Given the description of an element on the screen output the (x, y) to click on. 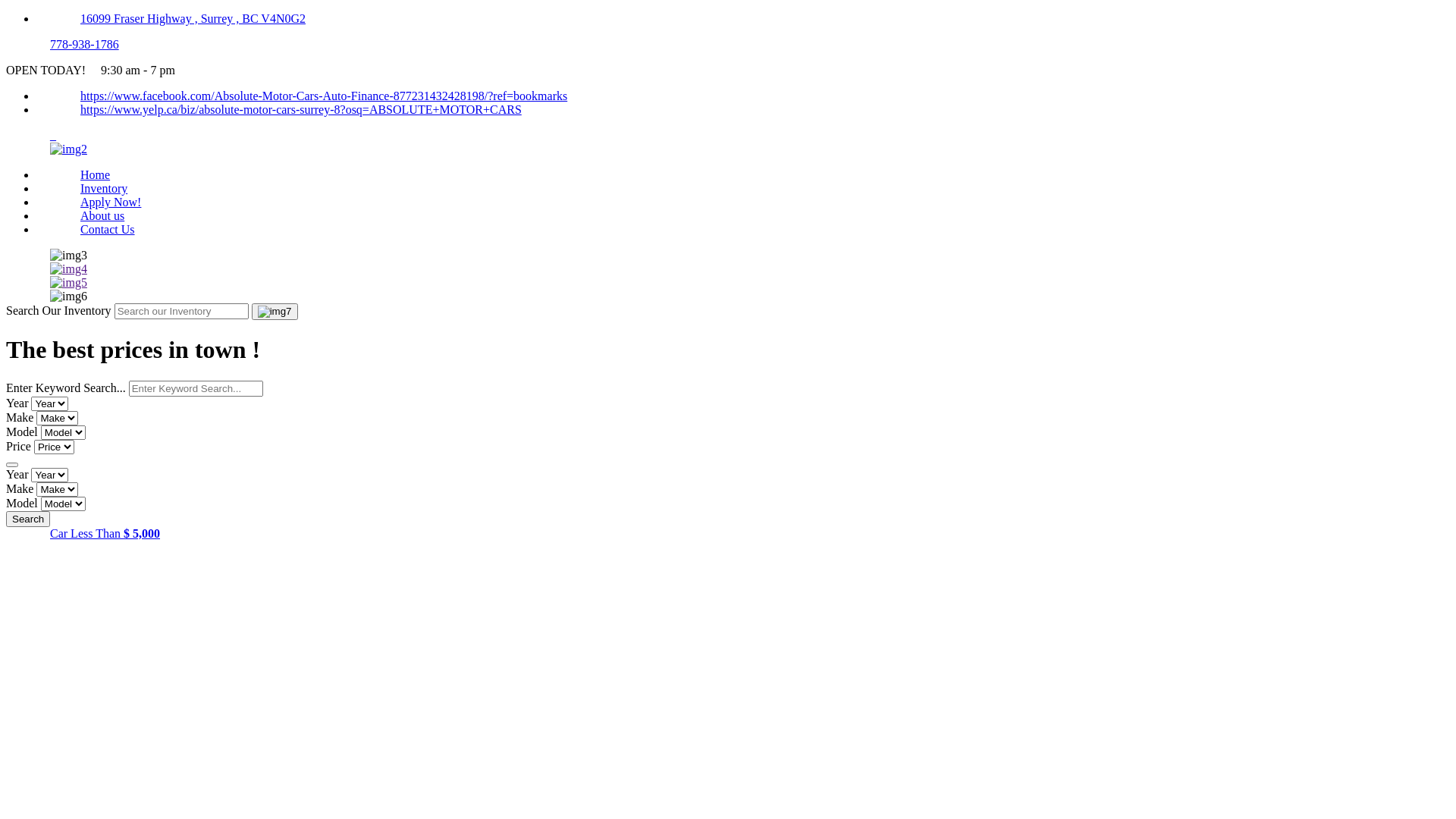
_ Element type: text (53, 135)
About us Element type: text (102, 215)
Car Less Than $ 5,000 Element type: text (104, 533)
Inventory Element type: text (103, 188)
778-938-1786 Element type: text (84, 44)
Home Element type: hover (68, 148)
Home Element type: text (94, 174)
Contact Us Element type: text (107, 229)
Search Element type: text (28, 519)
Apply Now! Element type: text (110, 201)
